Given the description of an element on the screen output the (x, y) to click on. 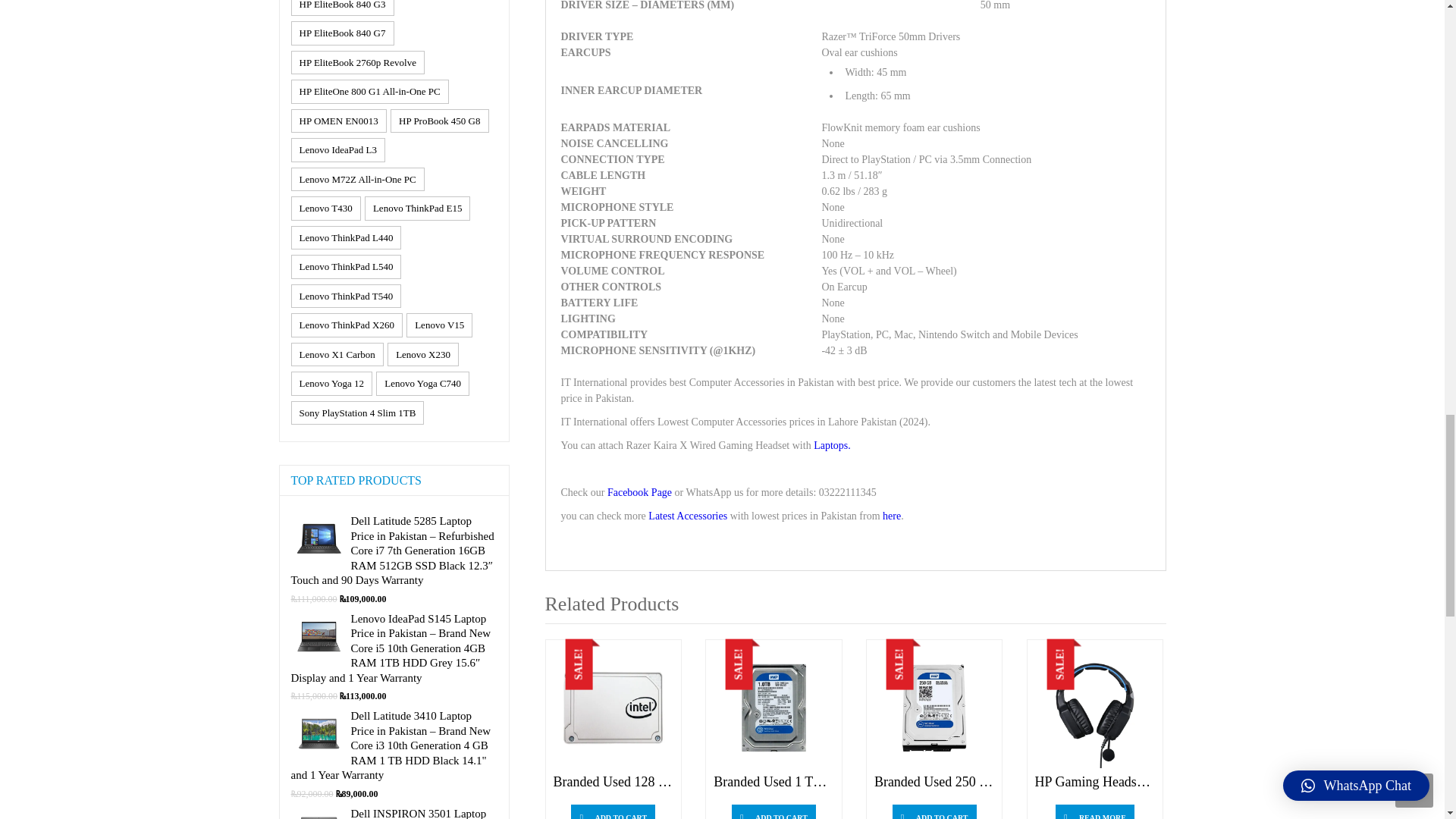
Facebook Page (639, 491)
Laptops. (831, 445)
